Given the description of an element on the screen output the (x, y) to click on. 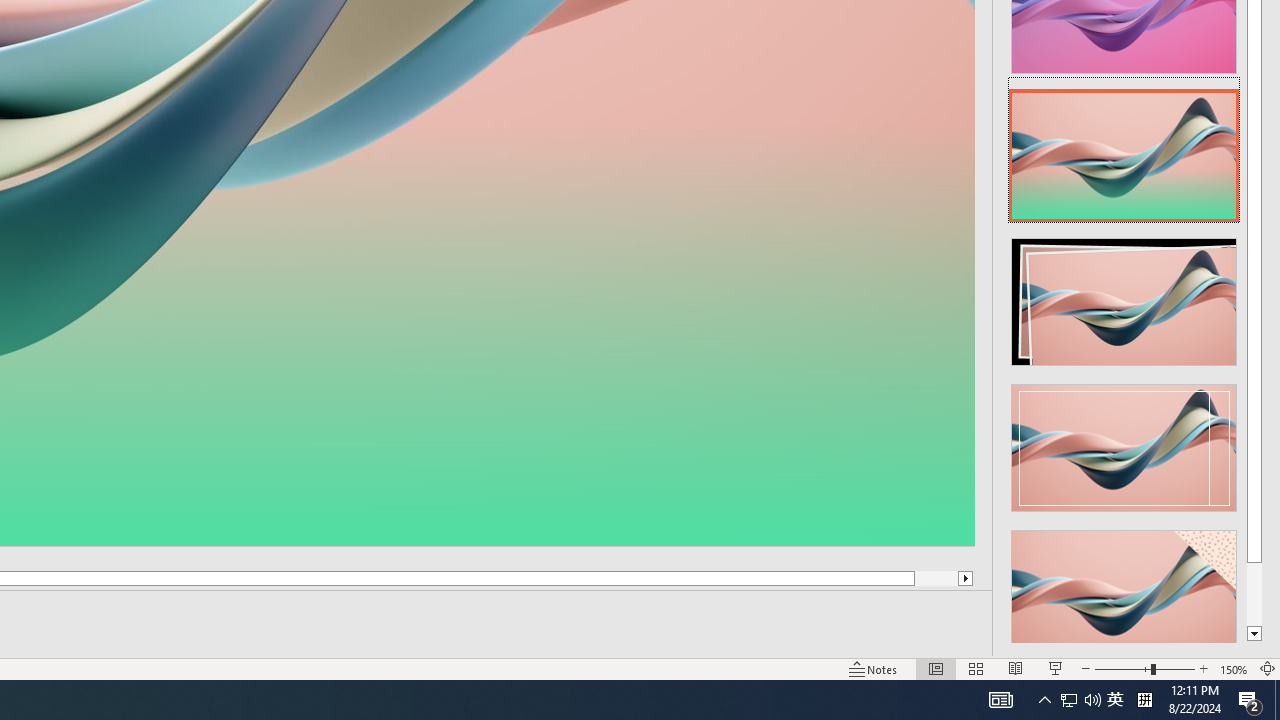
Slide Sorter (975, 668)
Slide Show (1055, 668)
Page down (1254, 594)
Reading View (1015, 668)
Notes  (874, 668)
Zoom In (1204, 668)
Class: NetUIImage (1124, 593)
Zoom Out (1122, 668)
Zoom to Fit  (1267, 668)
Zoom (1144, 668)
Line down (1254, 633)
Zoom 150% (1234, 668)
Design Idea (1124, 587)
Normal (936, 668)
